Given the description of an element on the screen output the (x, y) to click on. 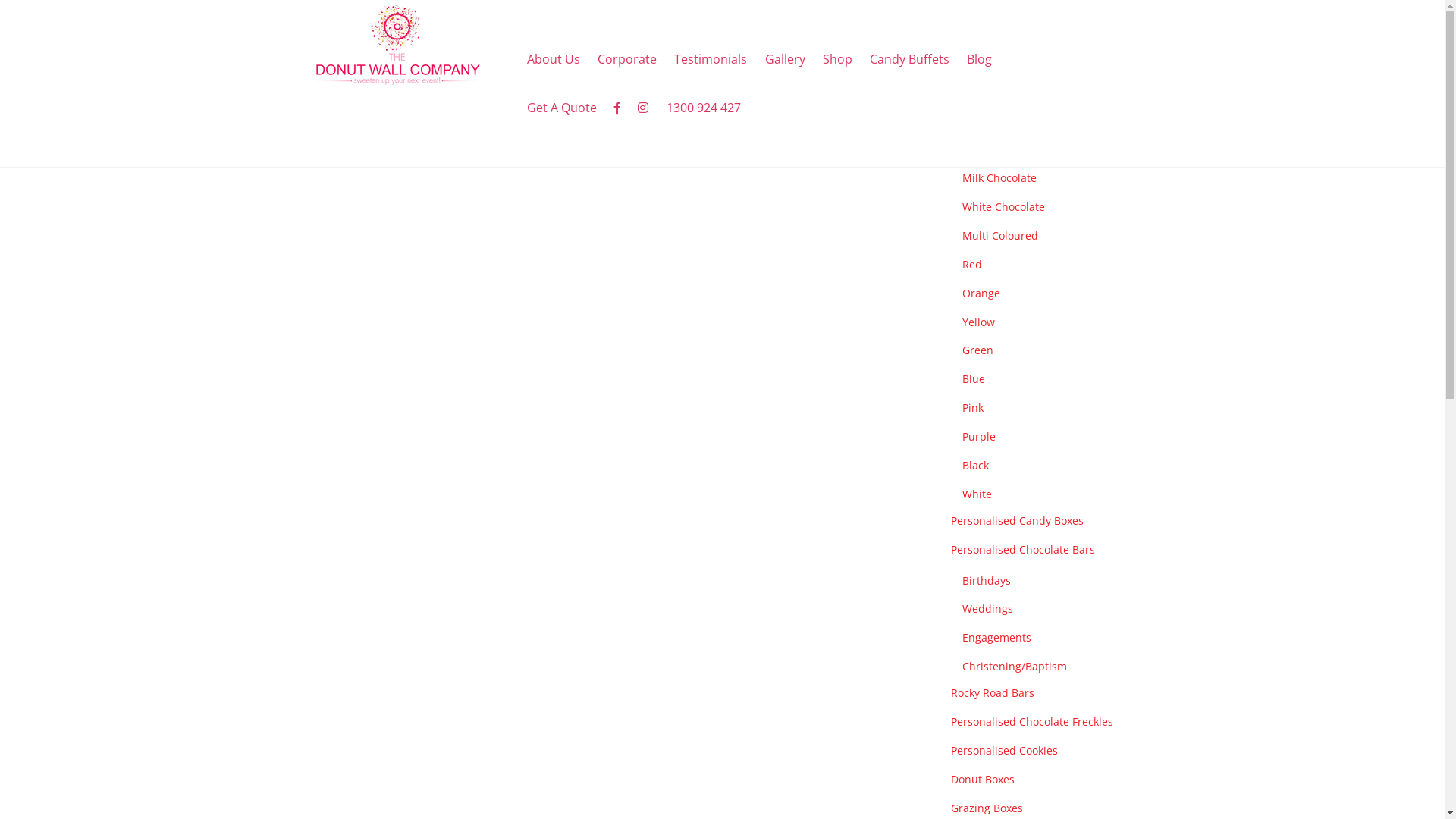
Green Element type: text (976, 349)
Personalised Chocolate Bars Element type: text (1022, 549)
Personalised Chocolate Freckles Element type: text (1031, 721)
Testimonials Element type: text (710, 58)
Blog Element type: text (979, 58)
Rocky Road Bars Element type: text (992, 692)
White Chocolate Element type: text (1002, 206)
Blue Element type: text (972, 378)
Donut Walls Element type: text (981, 117)
Christening/Baptism Element type: text (1013, 665)
Donut Wall Element type: hover (395, 44)
Shop Element type: text (837, 58)
About Us Element type: text (553, 58)
Candy Buffets Element type: text (909, 58)
1300 924 427 Element type: text (702, 108)
Milk Chocolate Element type: text (998, 177)
Purple Element type: text (977, 436)
Get A Quote Element type: text (562, 108)
Grazing Boxes Element type: text (986, 807)
Donut Wall Element type: hover (395, 76)
Corporate Element type: text (627, 58)
Donut Boxes Element type: text (982, 778)
Orange Element type: text (980, 292)
Black Element type: text (974, 465)
Bulk Candy Element type: text (978, 146)
White Element type: text (976, 493)
Engagements Element type: text (995, 637)
Weddings Element type: text (986, 608)
Pink Element type: text (971, 407)
Multi Coloured Element type: text (999, 235)
Birthdays Element type: text (985, 580)
Personalised Candy Boxes Element type: text (1016, 520)
Personalised Cookies Element type: text (1003, 750)
Red Element type: text (971, 264)
Yellow Element type: text (977, 321)
Candy Jars Element type: text (977, 89)
Gallery Element type: text (784, 58)
